Given the description of an element on the screen output the (x, y) to click on. 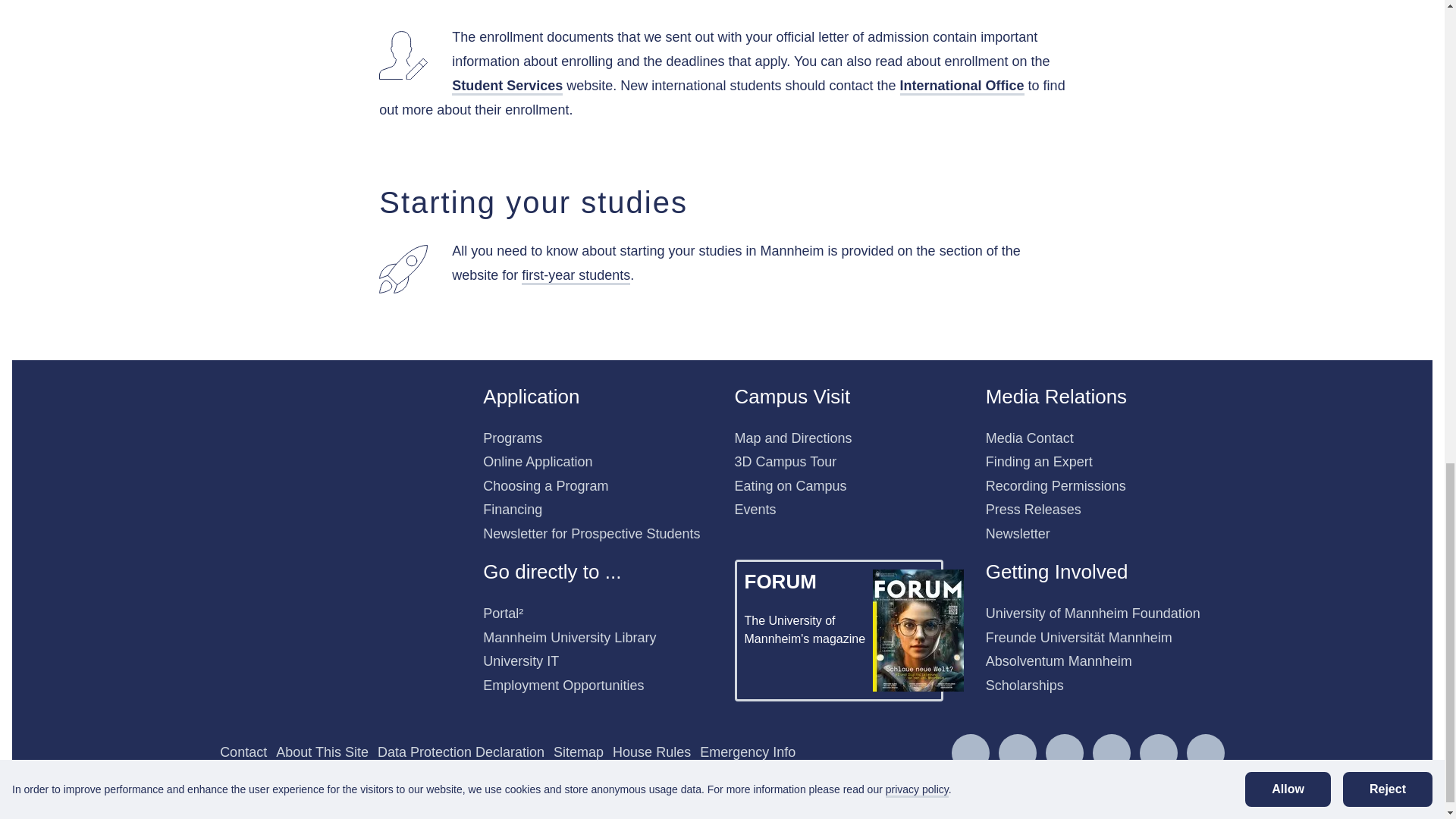
Mastodon Page of the University of Mannheim (1205, 752)
Seal of the University of Mannheim: In omnibus veritas (297, 451)
Instagram Page of the University of Mannheim (969, 752)
YouTube Page of the University of Mannheim (1158, 752)
LinkedIn Page of the University of Mannheim (1064, 752)
